Given the description of an element on the screen output the (x, y) to click on. 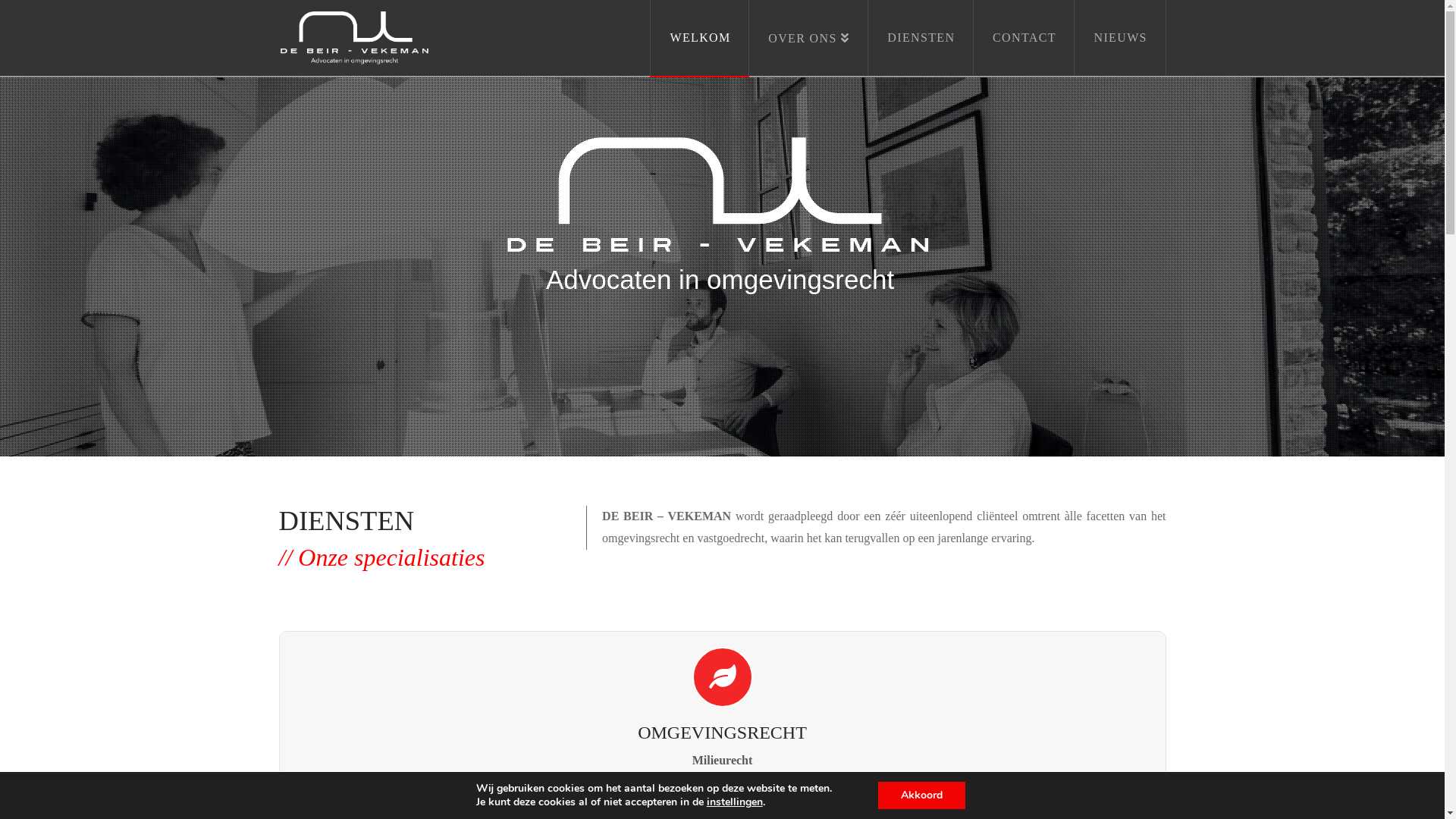
DIENSTEN Element type: text (920, 37)
Akkoord Element type: text (921, 795)
NIEUWS Element type: text (1119, 37)
CONTACT Element type: text (1023, 37)
OVER ONS Element type: text (808, 37)
WELKOM Element type: text (699, 37)
